Given the description of an element on the screen output the (x, y) to click on. 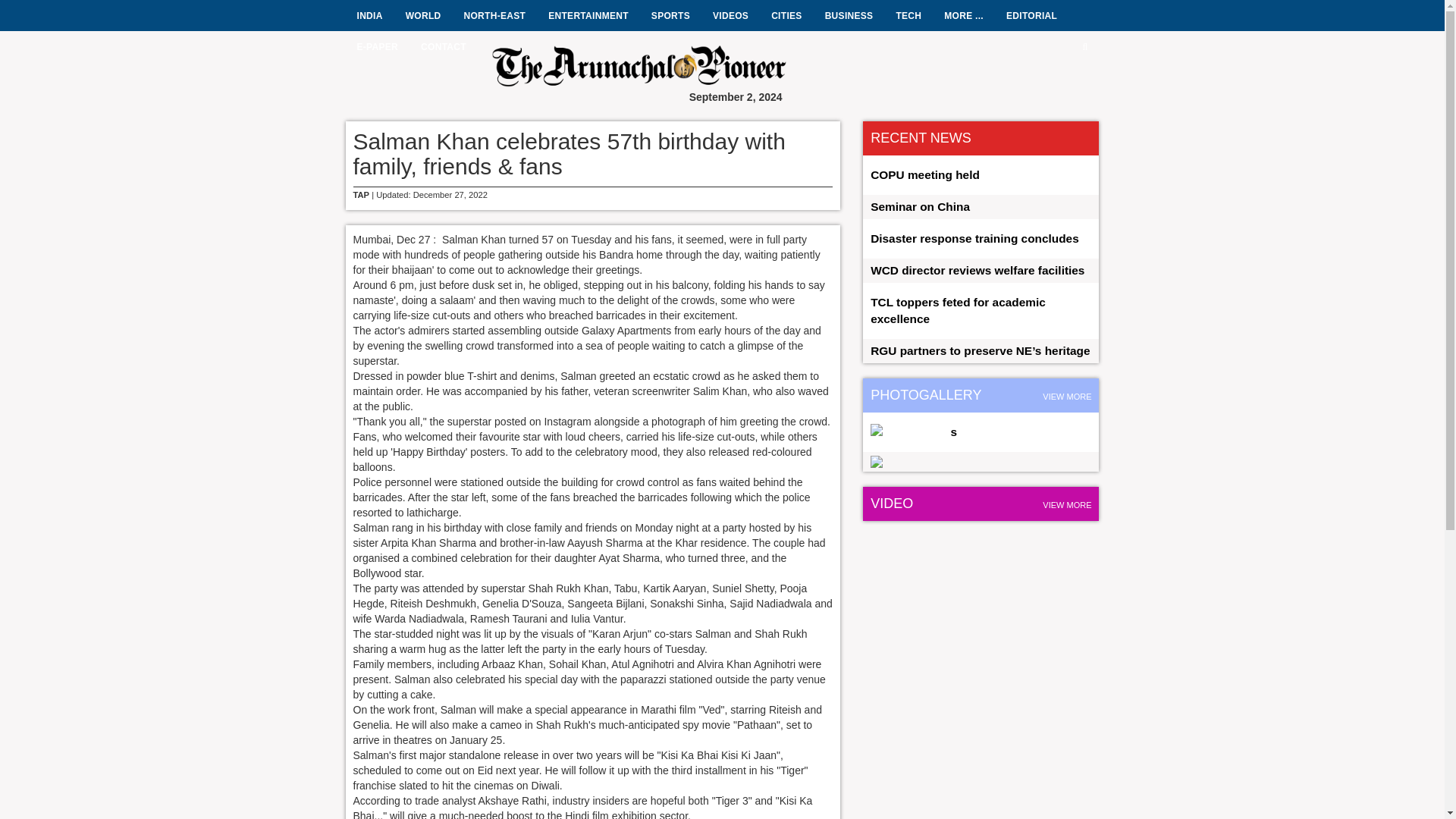
WORLD (417, 15)
ENTERTAINMENT (582, 15)
SPORTS (665, 15)
INDIA (364, 15)
NORTH-EAST (488, 15)
